Given the description of an element on the screen output the (x, y) to click on. 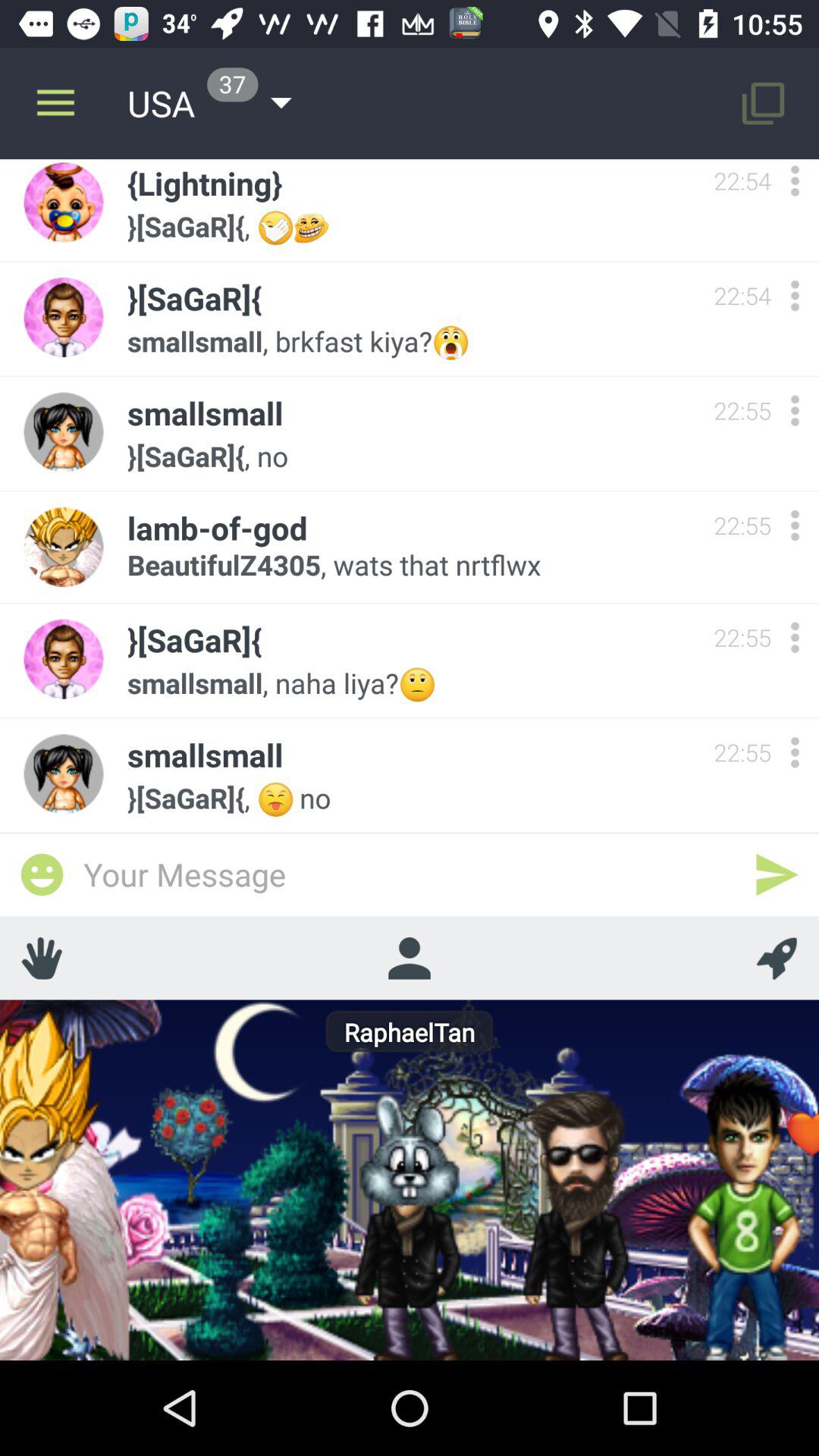
open options menu (795, 295)
